Given the description of an element on the screen output the (x, y) to click on. 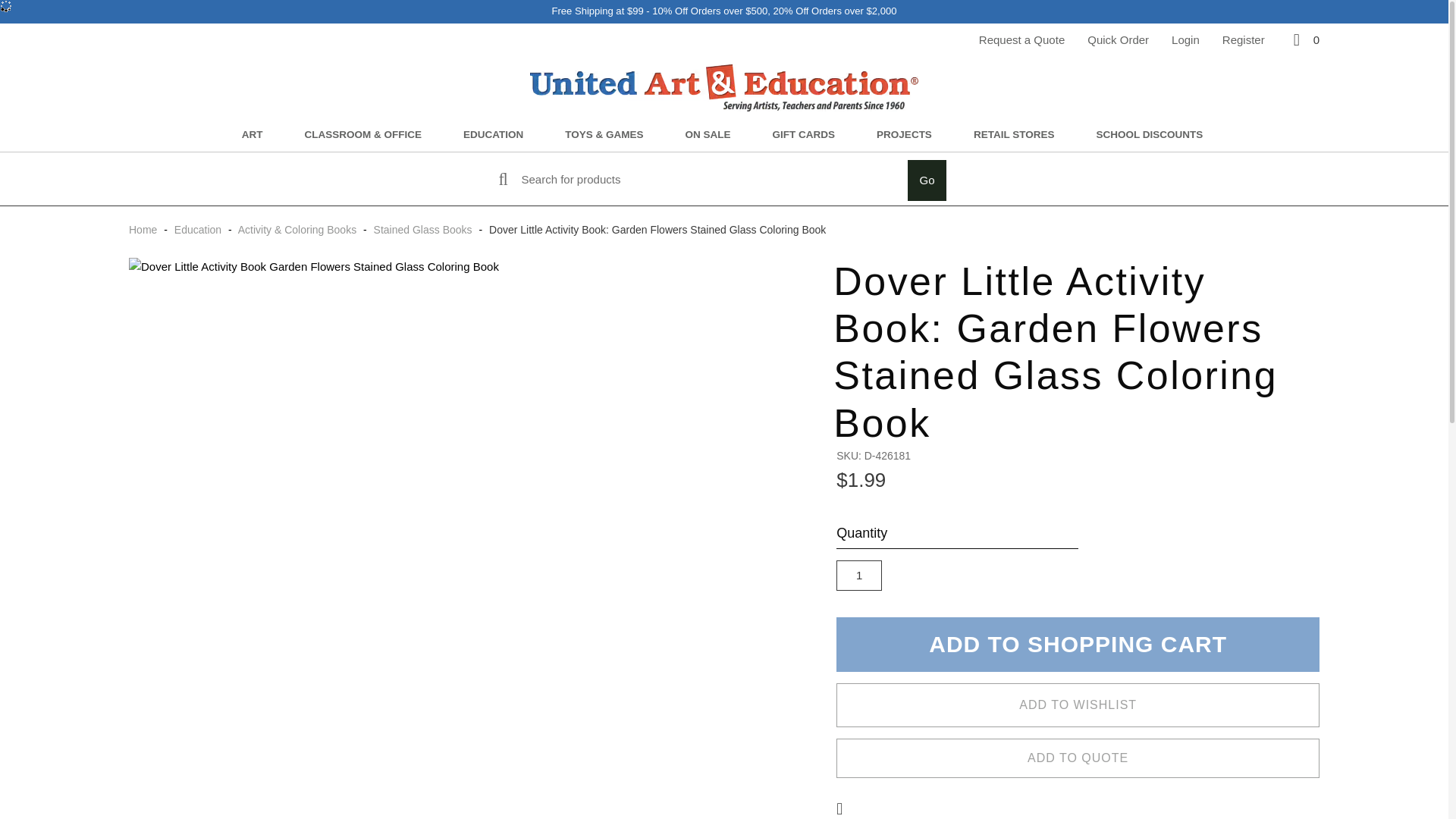
1 (858, 575)
Request a Quote (1021, 39)
Login (1185, 39)
0 (1304, 39)
Request a Quote (1021, 39)
ART (252, 135)
Register (1243, 39)
Cart (1304, 39)
Quick Order (1117, 39)
Quick Order (1117, 39)
